Given the description of an element on the screen output the (x, y) to click on. 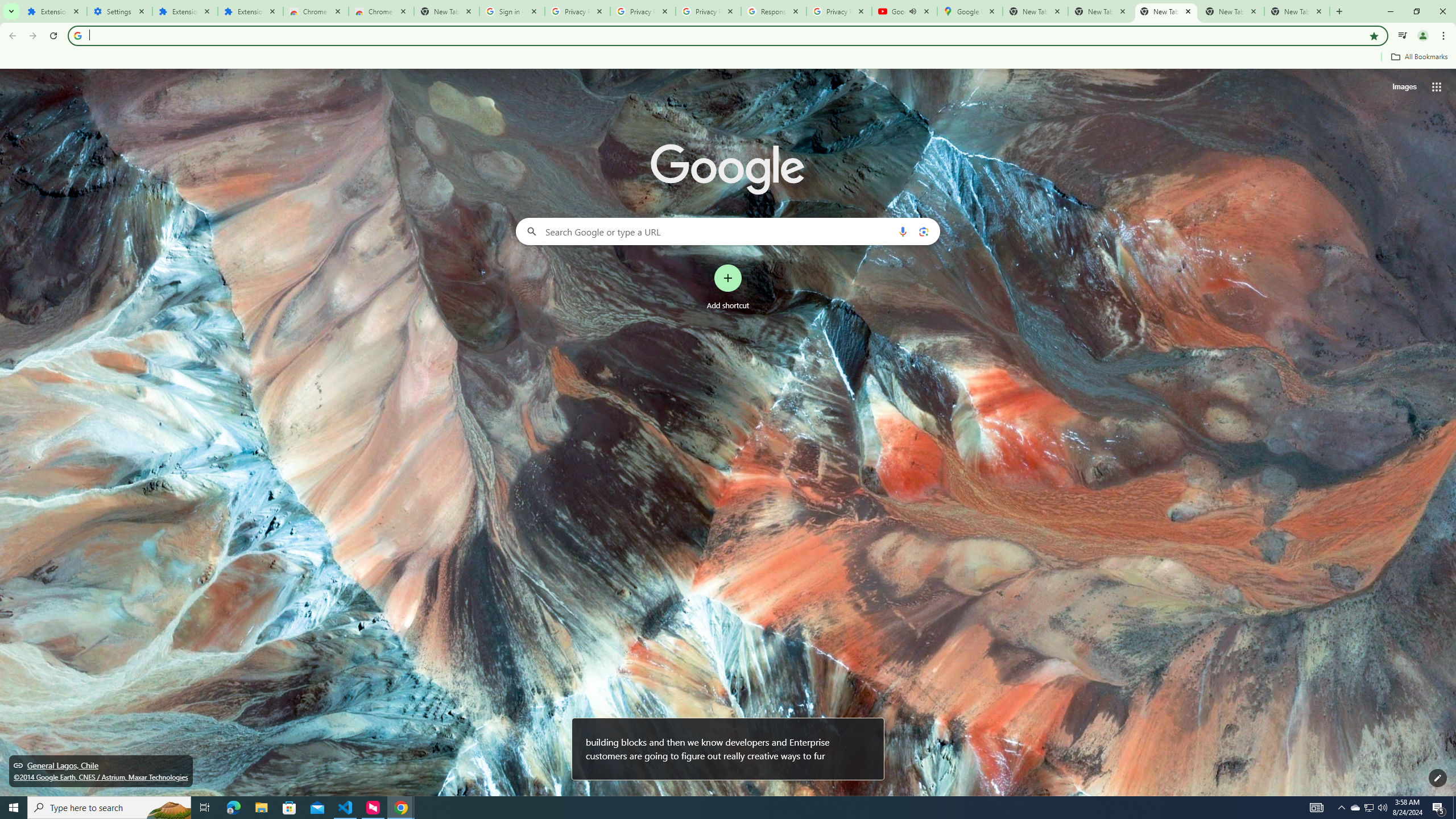
Settings (119, 11)
Search by image (922, 230)
Chrome Web Store (315, 11)
Search for Images  (1403, 87)
Sign in - Google Accounts (512, 11)
Chrome Web Store - Themes (381, 11)
Mute tab (912, 10)
Extensions (250, 11)
Bookmarks (728, 58)
